Given the description of an element on the screen output the (x, y) to click on. 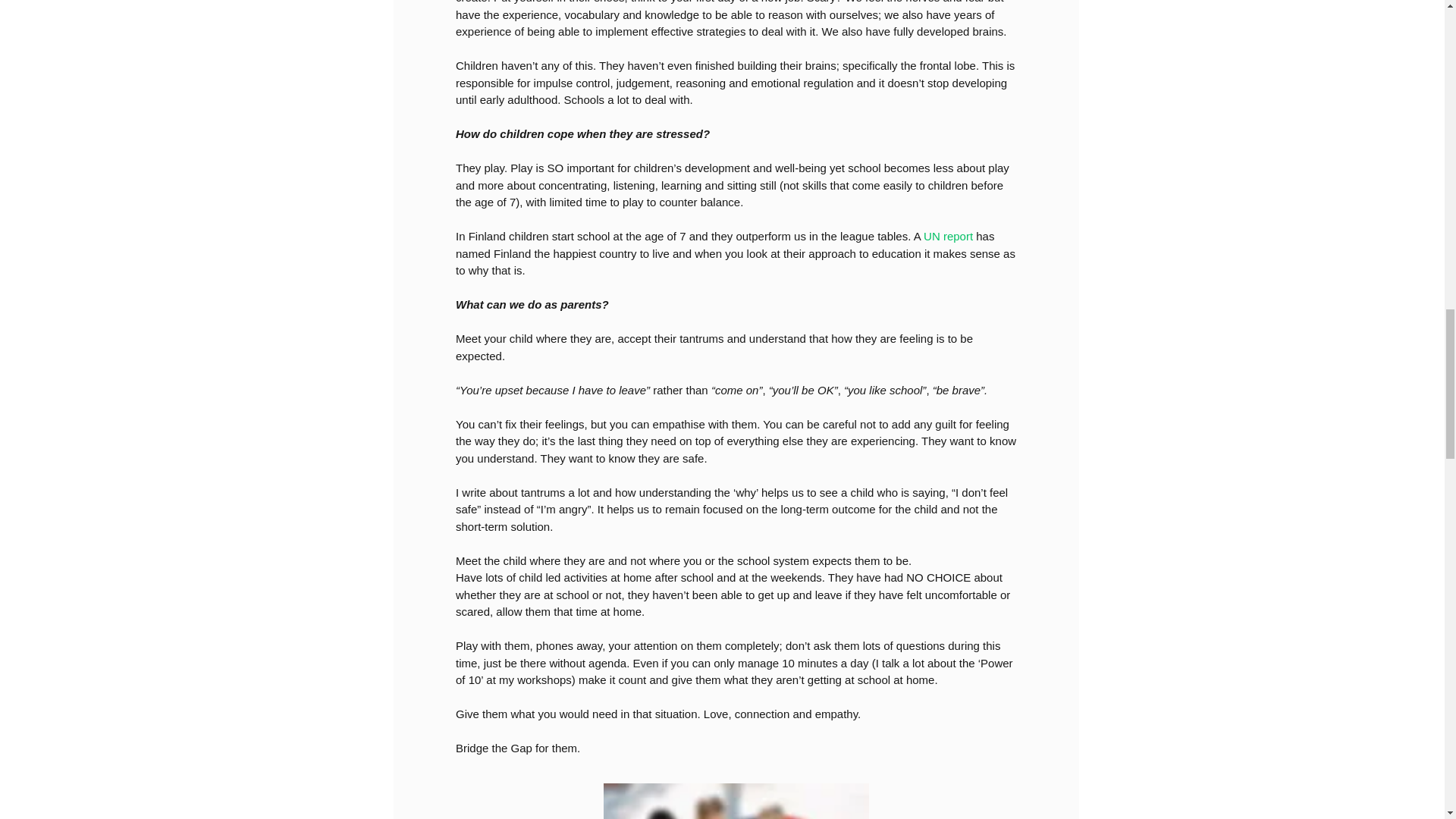
UN report (947, 236)
